Given the description of an element on the screen output the (x, y) to click on. 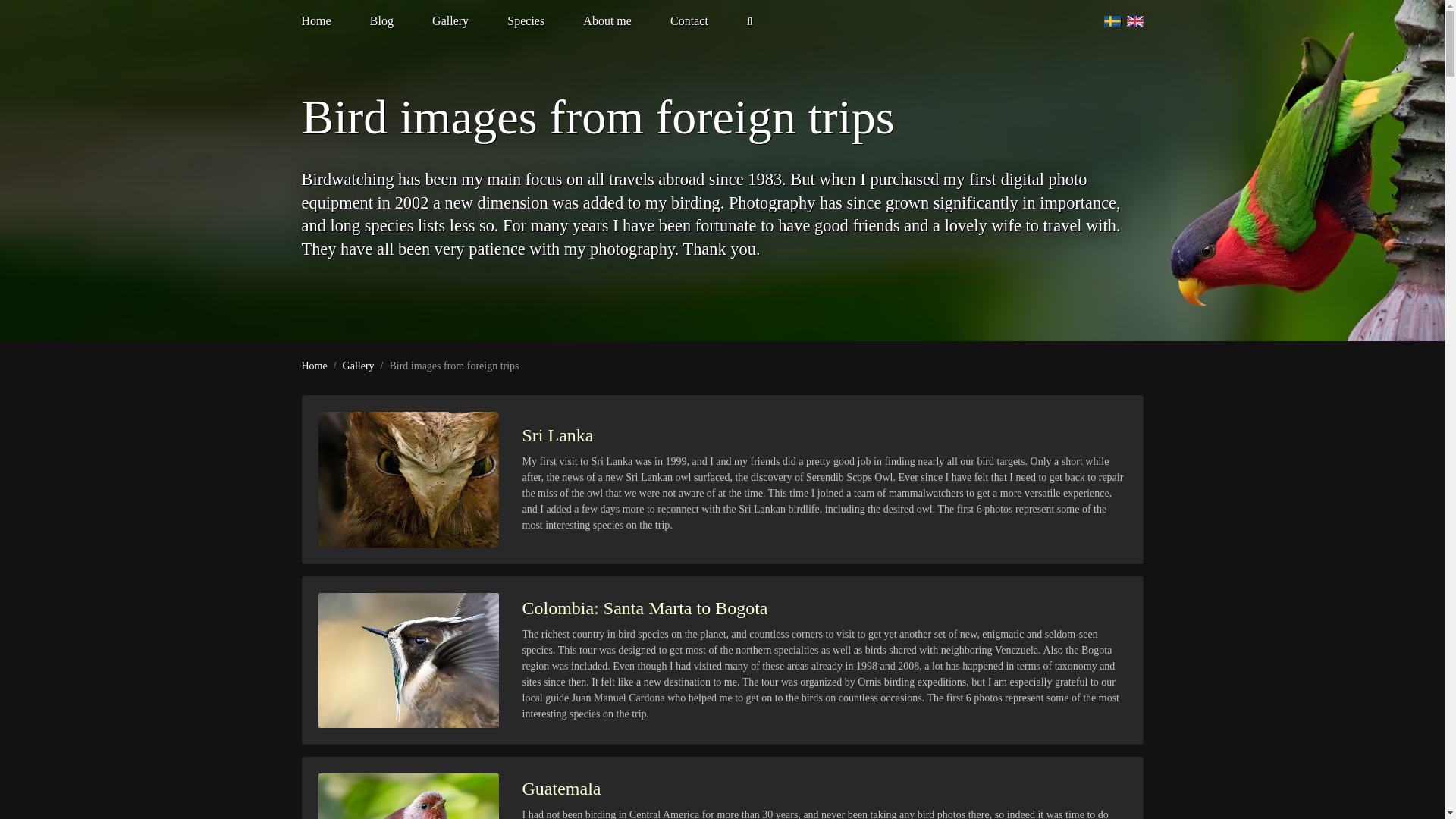
Home (325, 20)
Blog (381, 20)
Contact (688, 20)
Gallery (450, 20)
Colombia: Santa Marta to Bogota (644, 608)
Gallery (358, 365)
About me (607, 20)
Home (314, 365)
Species (525, 20)
Guatemala (560, 788)
Sri Lanka (556, 435)
